Given the description of an element on the screen output the (x, y) to click on. 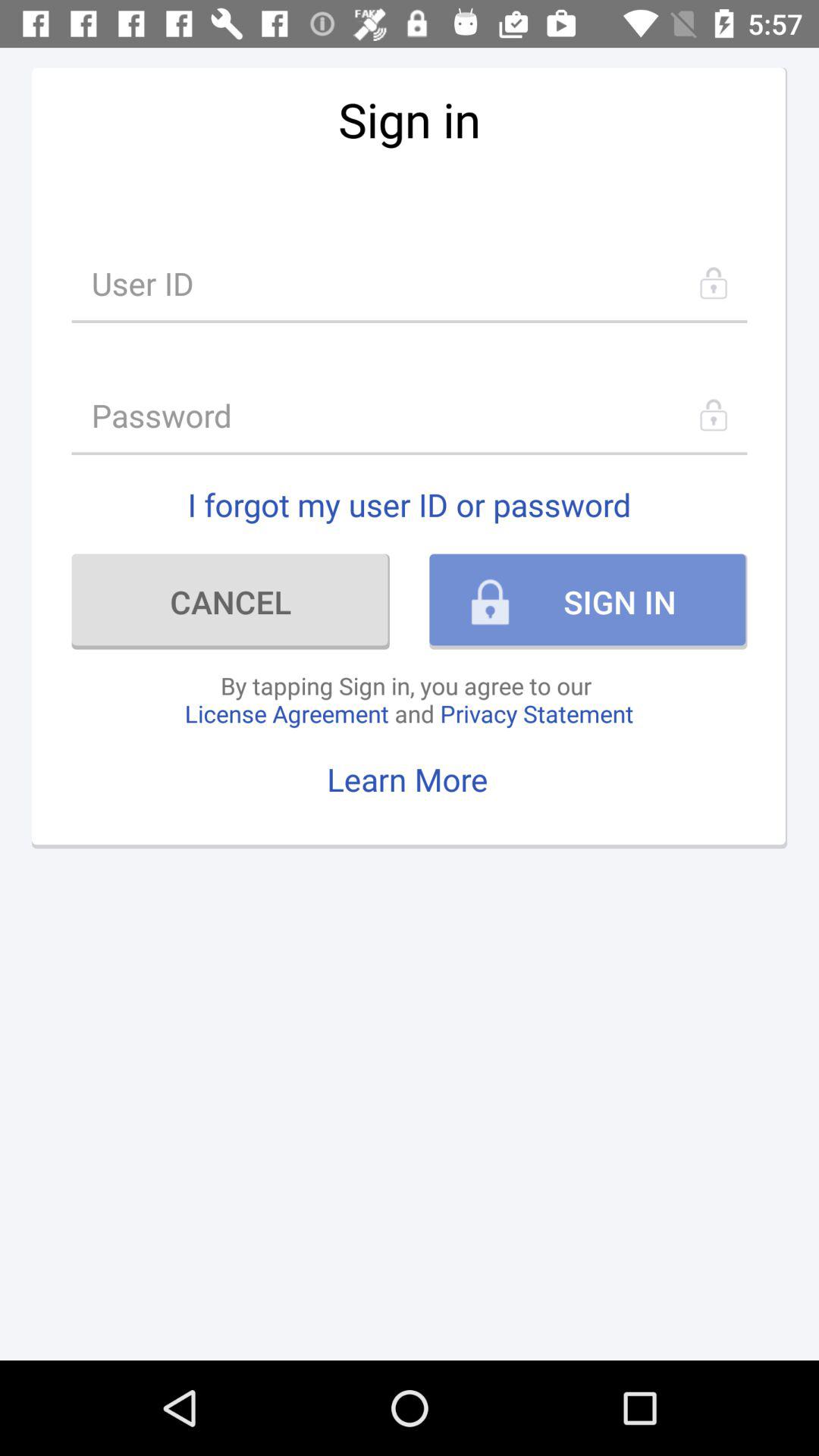
jump to the cancel item (230, 601)
